Given the description of an element on the screen output the (x, y) to click on. 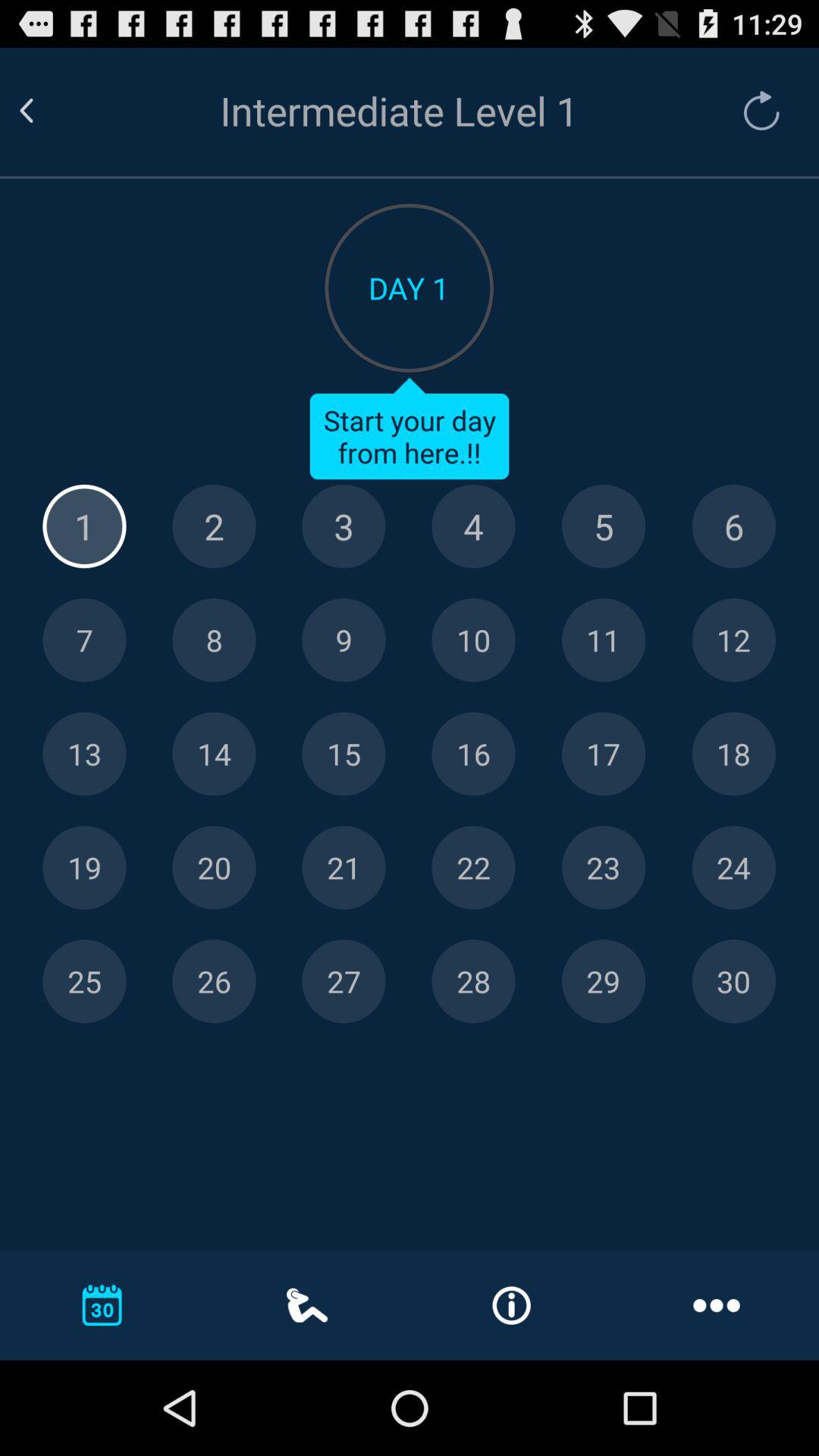
day 26 (213, 981)
